Given the description of an element on the screen output the (x, y) to click on. 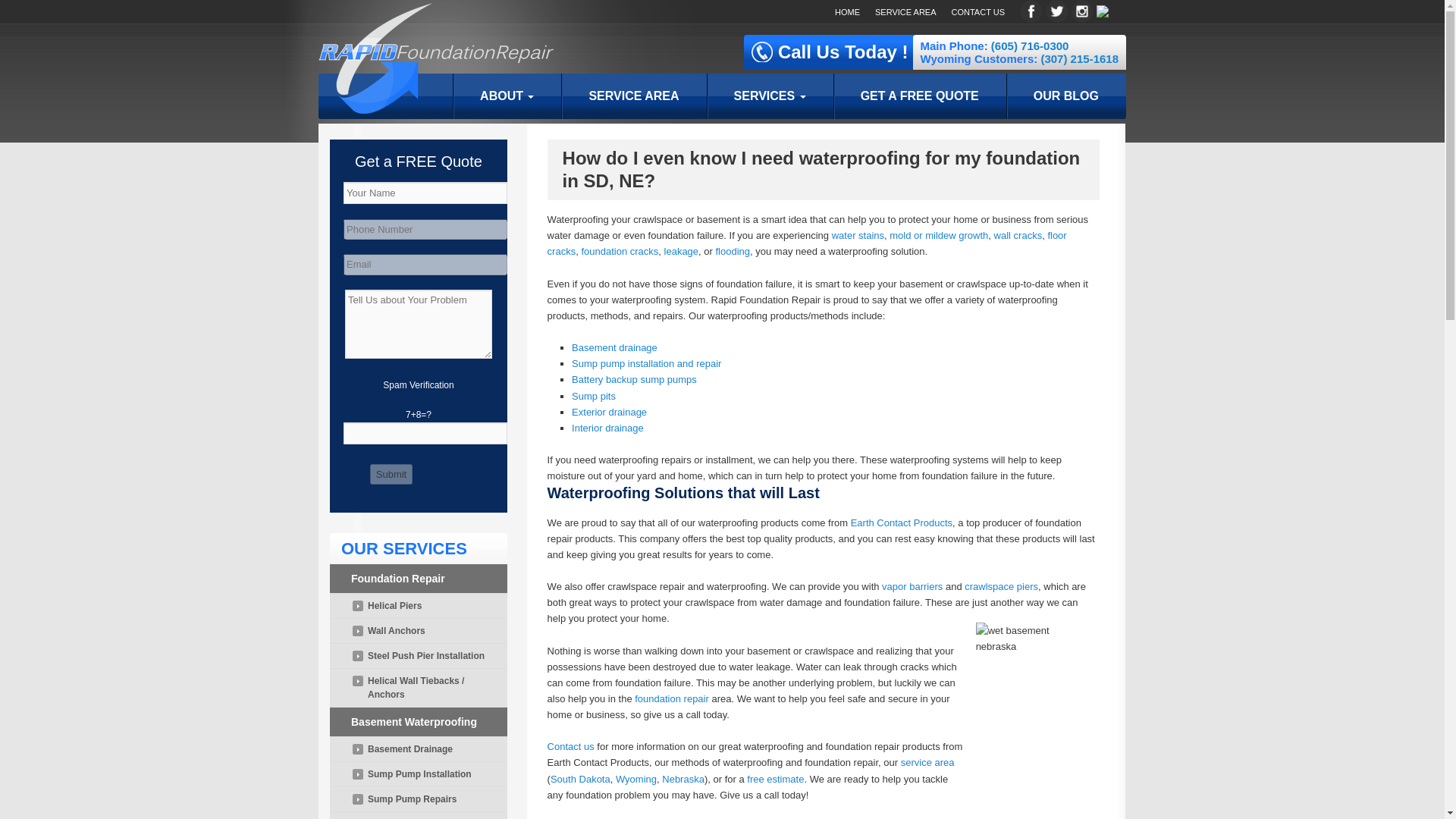
Basement drainage (615, 347)
GET A FREE QUOTE (919, 95)
leakage (680, 251)
CONTACT US (977, 11)
Sump pits (593, 395)
water stains (857, 235)
Battery backup sump pumps (634, 378)
SERVICES (769, 95)
HOME (847, 11)
SERVICE AREA (905, 11)
